Given the description of an element on the screen output the (x, y) to click on. 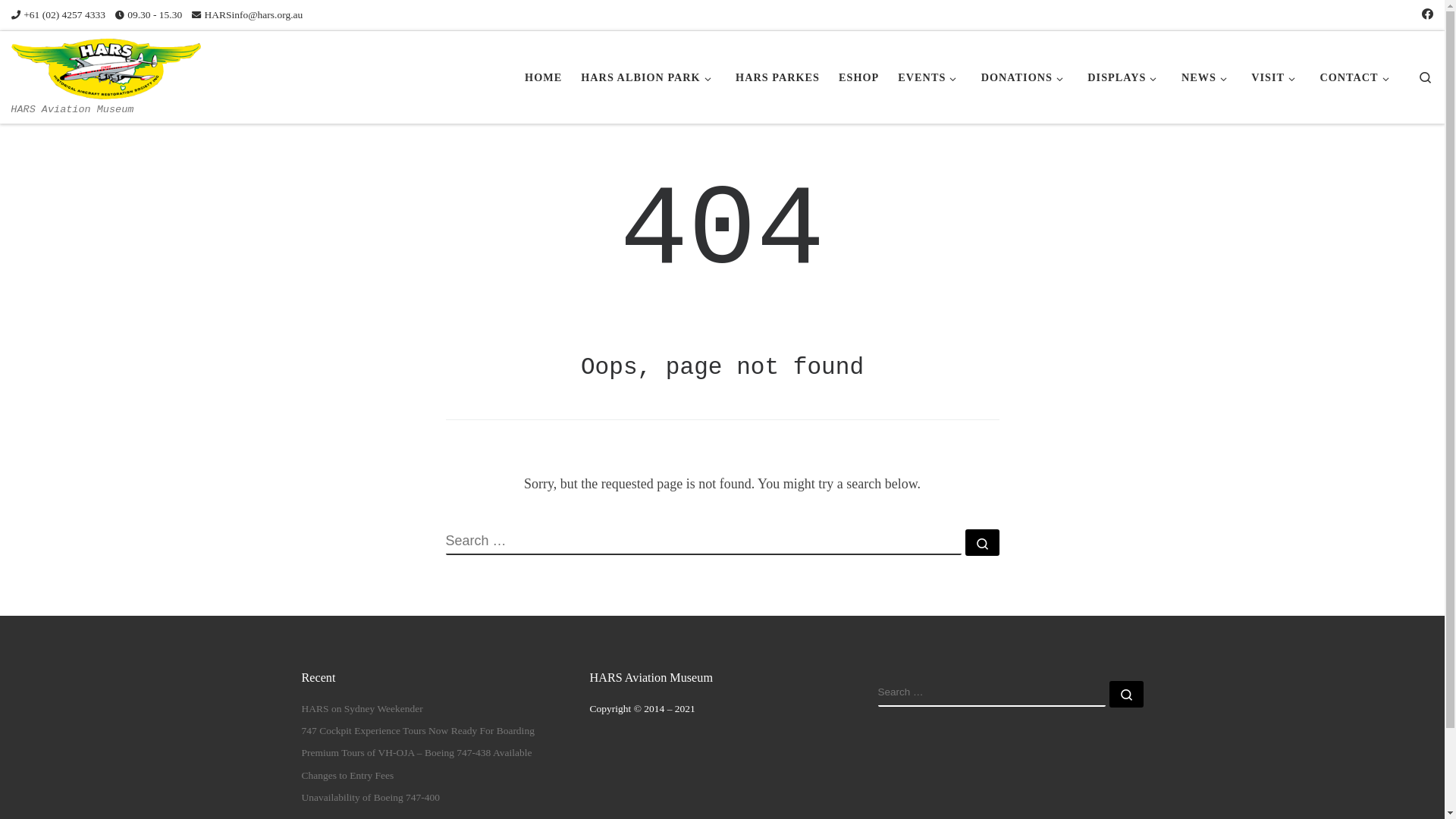
VISIT Element type: text (1275, 77)
CONTACT Element type: text (1356, 77)
NEWS Element type: text (1206, 77)
EVENTS Element type: text (929, 77)
HARS on Sydney Weekender Element type: text (362, 709)
+61 (02) 4257 4333 Element type: text (58, 15)
Search Element type: text (1424, 77)
Follow me on Facebook Element type: hover (1427, 14)
HARSinfo@hars.org.au Element type: text (246, 15)
ESHOP Element type: text (859, 77)
HARS ALBION PARK Element type: text (648, 77)
HARS PARKES Element type: text (777, 77)
Changes to Entry Fees Element type: text (347, 776)
DISPLAYS Element type: text (1124, 77)
HOME Element type: text (543, 77)
Unavailability of Boeing 747-400 Element type: text (370, 798)
DONATIONS Element type: text (1024, 77)
Skip to content Element type: text (57, 20)
747 Cockpit Experience Tours Now Ready For Boarding Element type: text (417, 731)
